Given the description of an element on the screen output the (x, y) to click on. 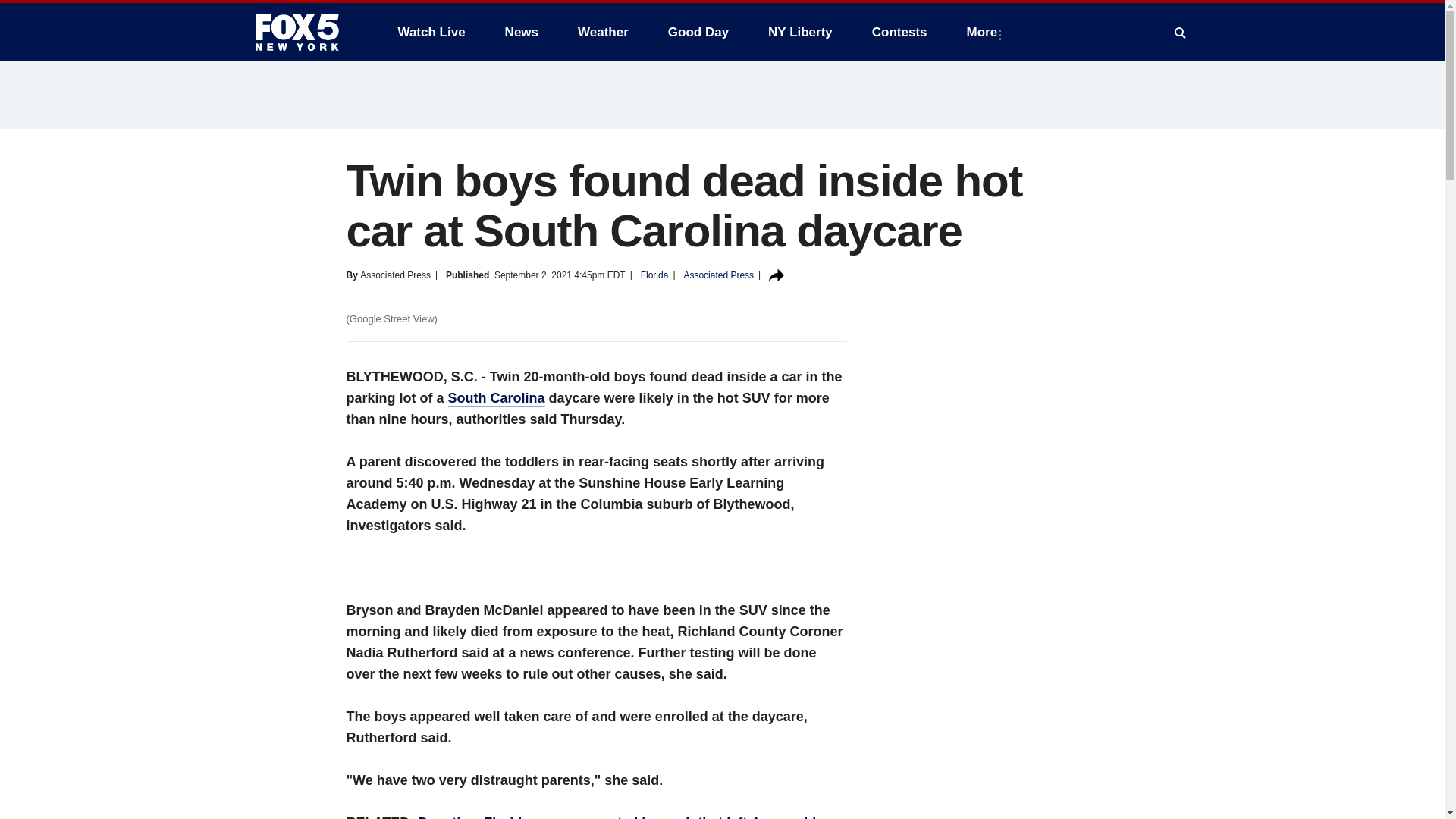
Contests (899, 32)
More (985, 32)
Good Day (698, 32)
Weather (603, 32)
NY Liberty (799, 32)
Watch Live (431, 32)
News (521, 32)
